Given the description of an element on the screen output the (x, y) to click on. 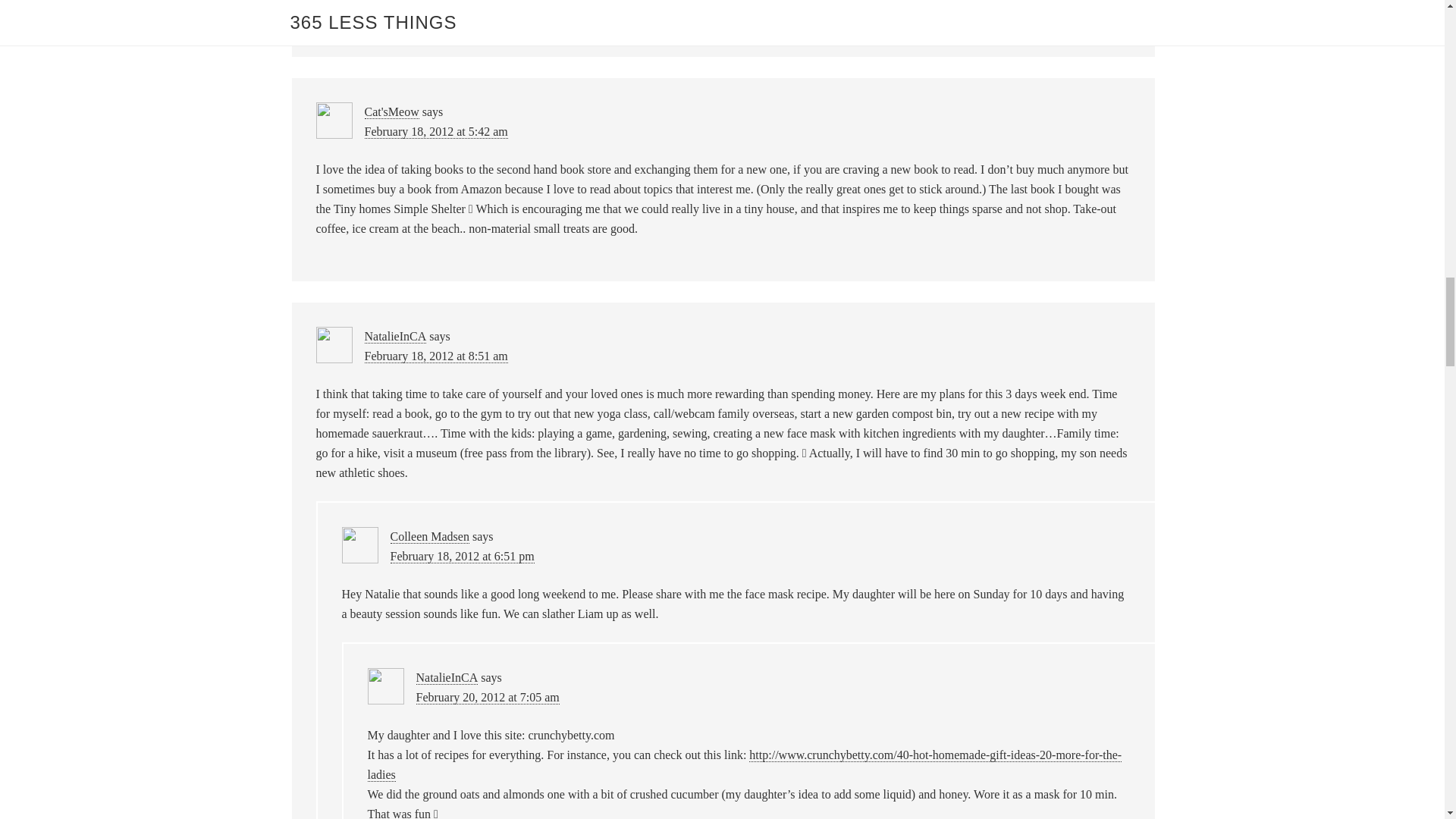
February 20, 2012 at 7:05 am (486, 697)
NatalieInCA (445, 677)
Cat'sMeow (391, 111)
Colleen Madsen (429, 536)
February 18, 2012 at 6:51 pm (462, 556)
February 18, 2012 at 8:51 am (435, 356)
February 18, 2012 at 5:42 am (435, 131)
NatalieInCA (395, 336)
